Given the description of an element on the screen output the (x, y) to click on. 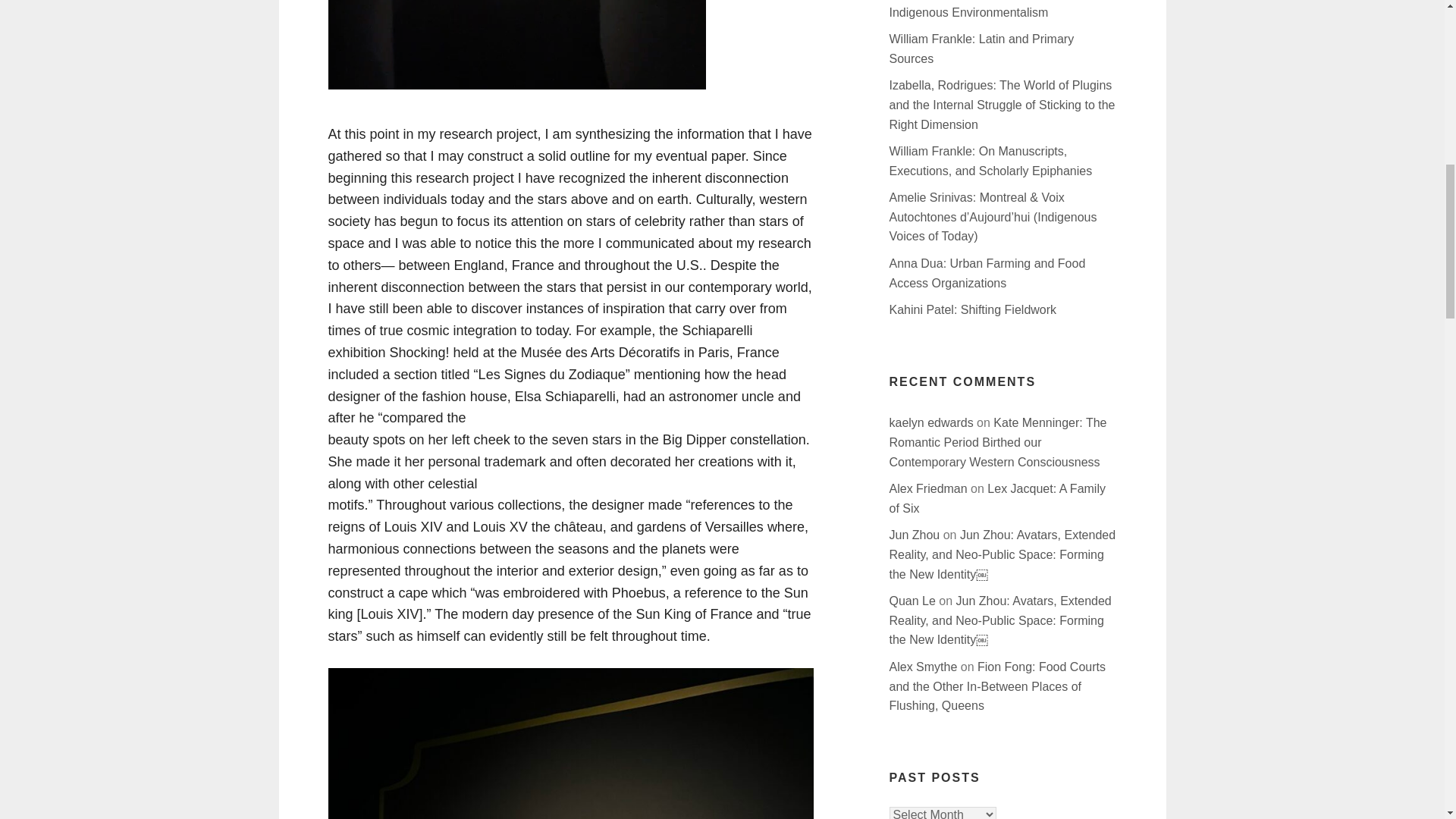
Anna Dua: Urban Farming and Food Access Organizations (986, 273)
William Frankle: Latin and Primary Sources (981, 48)
Kahini Patel: Shifting Fieldwork (972, 309)
Lex Jacquet: A Family of Six (996, 498)
